Given the description of an element on the screen output the (x, y) to click on. 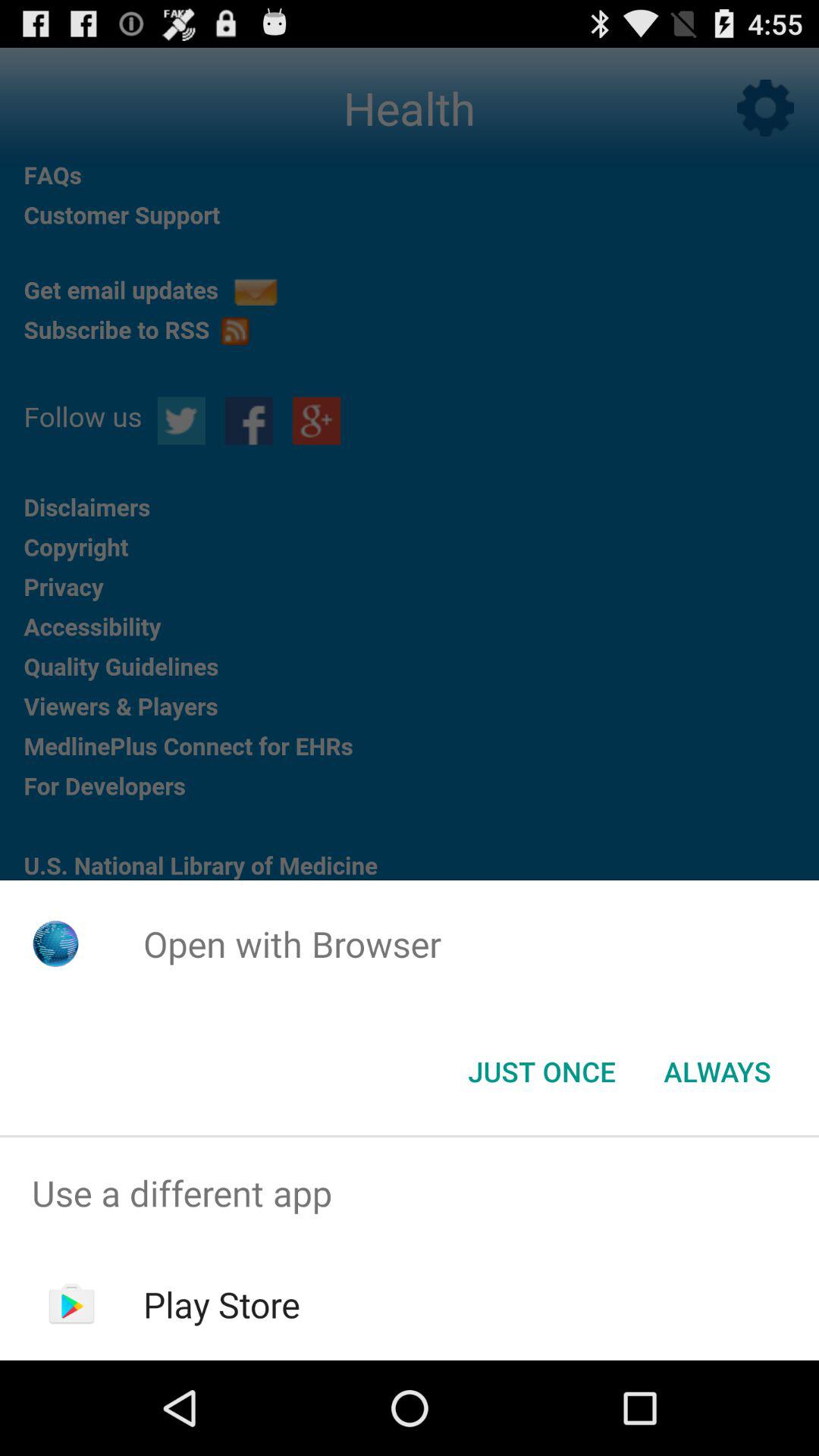
scroll to always icon (717, 1071)
